Given the description of an element on the screen output the (x, y) to click on. 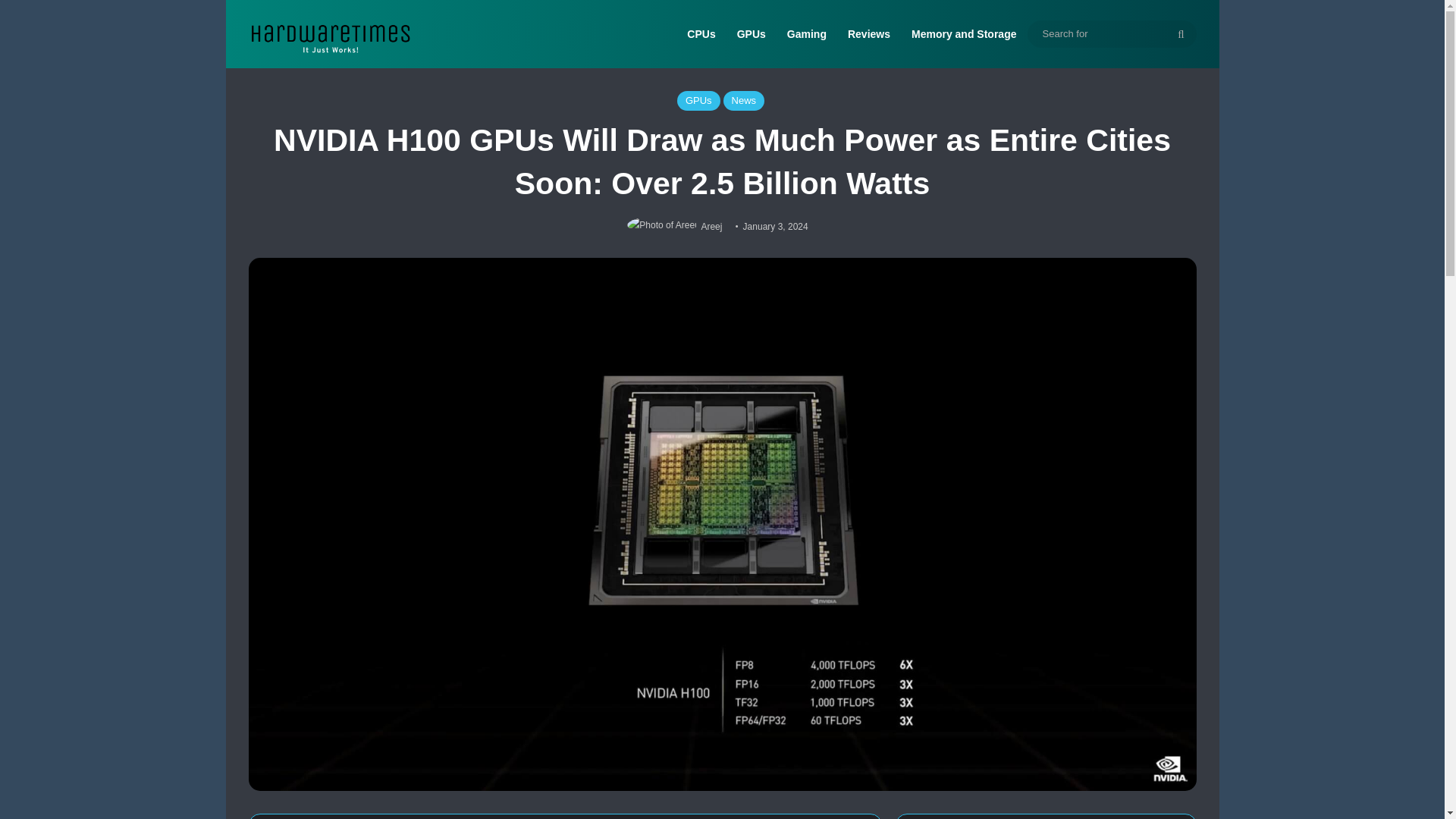
Hardware Times IN (329, 34)
Search for (1110, 33)
Memory and Storage (963, 33)
Search for (1181, 33)
GPUs (698, 100)
News (744, 100)
Reviews (869, 33)
CPUs (701, 33)
GPUs (751, 33)
Gaming (806, 33)
